Given the description of an element on the screen output the (x, y) to click on. 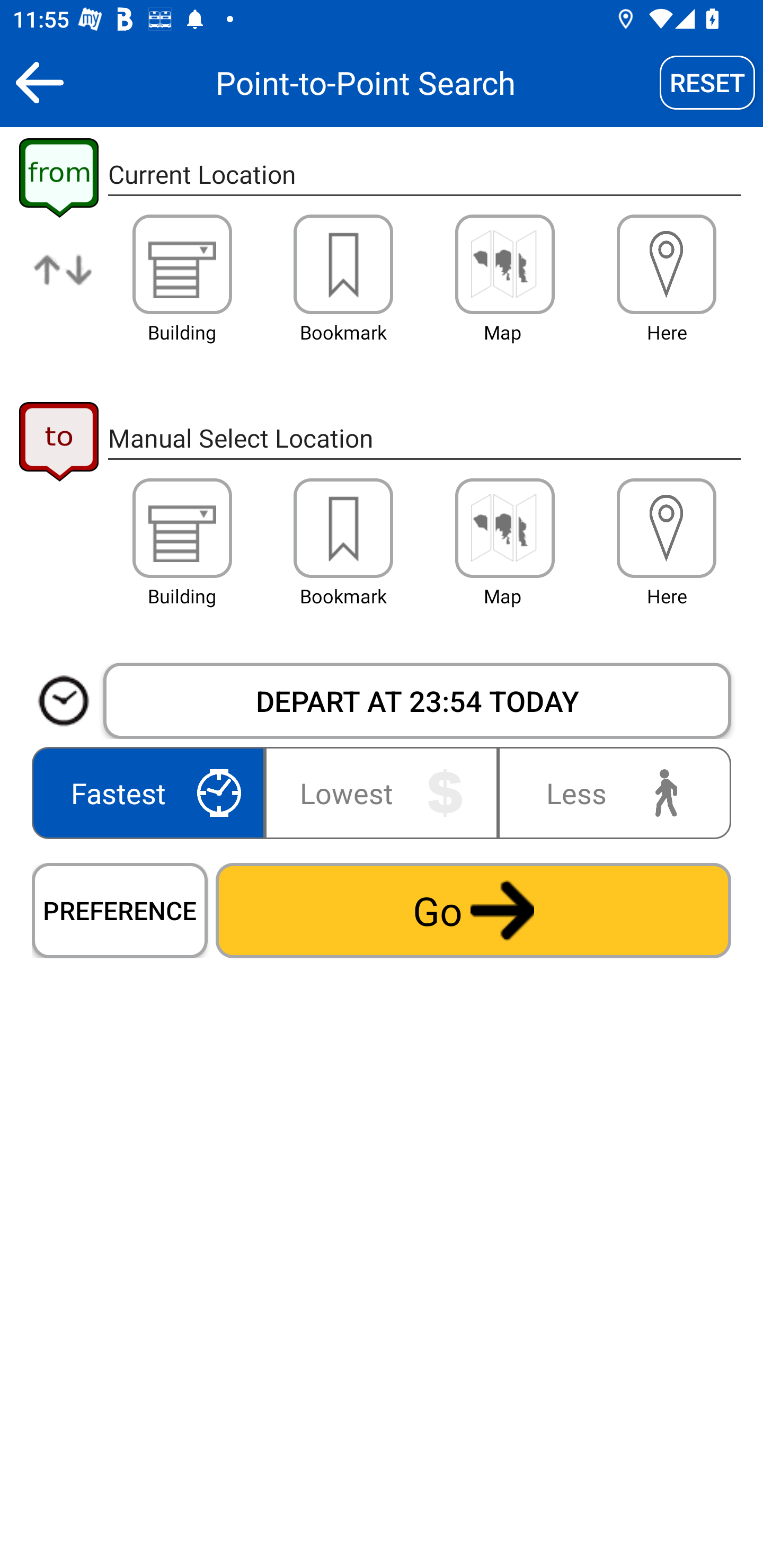
Back (39, 82)
RESET Reset (707, 81)
Current Location (423, 174)
Building (181, 263)
Bookmarks (342, 263)
Select location on map (504, 263)
Here (666, 263)
Swap origin and destination (63, 284)
Manual Select Location (423, 437)
Building (181, 528)
Bookmarks (342, 528)
Select location on map (504, 528)
Here (666, 528)
Lowest (381, 792)
Fastest selected (151, 792)
Less (610, 792)
PREFERENCE Preference (119, 910)
Go (472, 910)
